Given the description of an element on the screen output the (x, y) to click on. 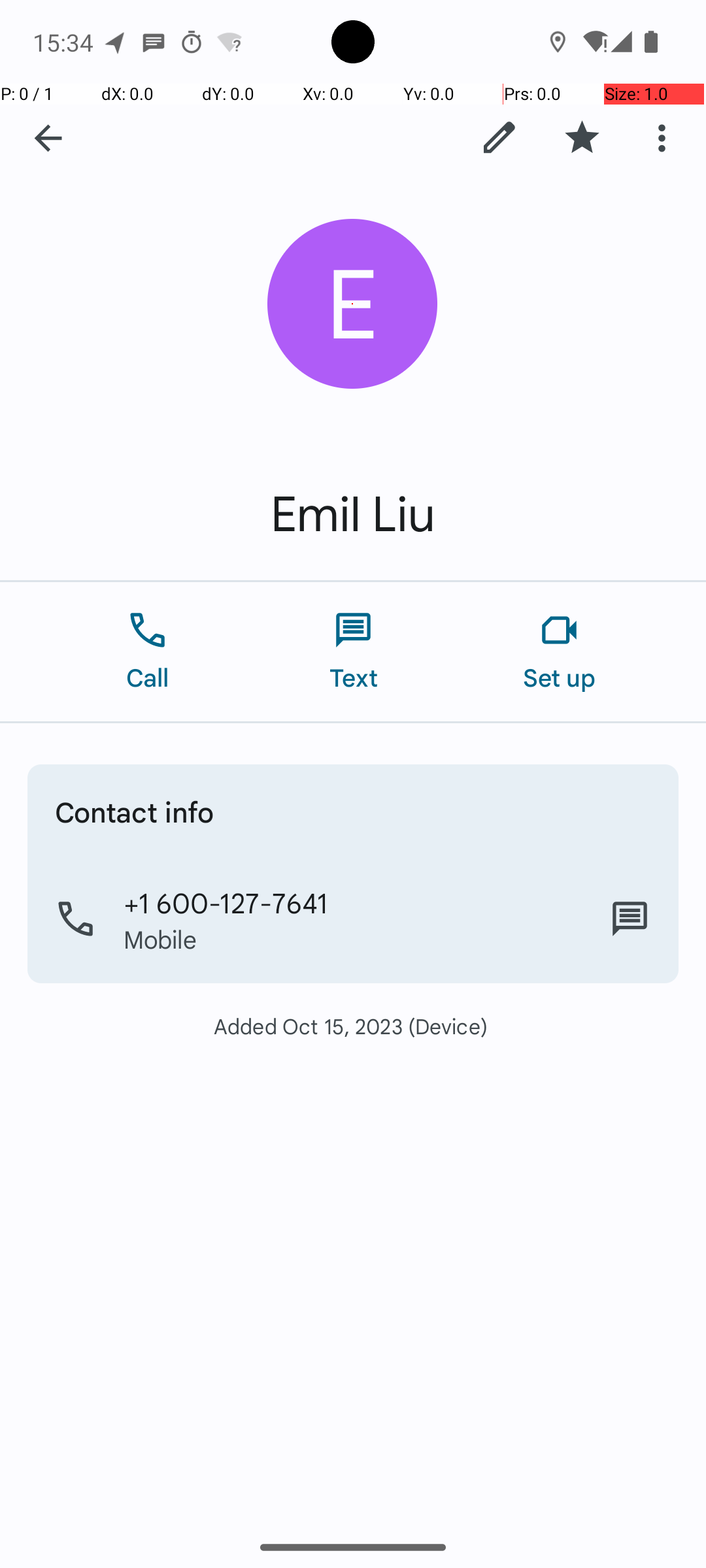
Emil Liu Element type: android.widget.TextView (352, 514)
Call Mobile +1 600-127-7641 Element type: android.widget.RelativeLayout (352, 919)
Added Oct 15, 2023 (Device)  Element type: android.widget.TextView (352, 1025)
+1 600-127-7641 Element type: android.widget.TextView (225, 901)
Text Mobile +1 600-127-7641 Element type: android.widget.Button (629, 919)
